Given the description of an element on the screen output the (x, y) to click on. 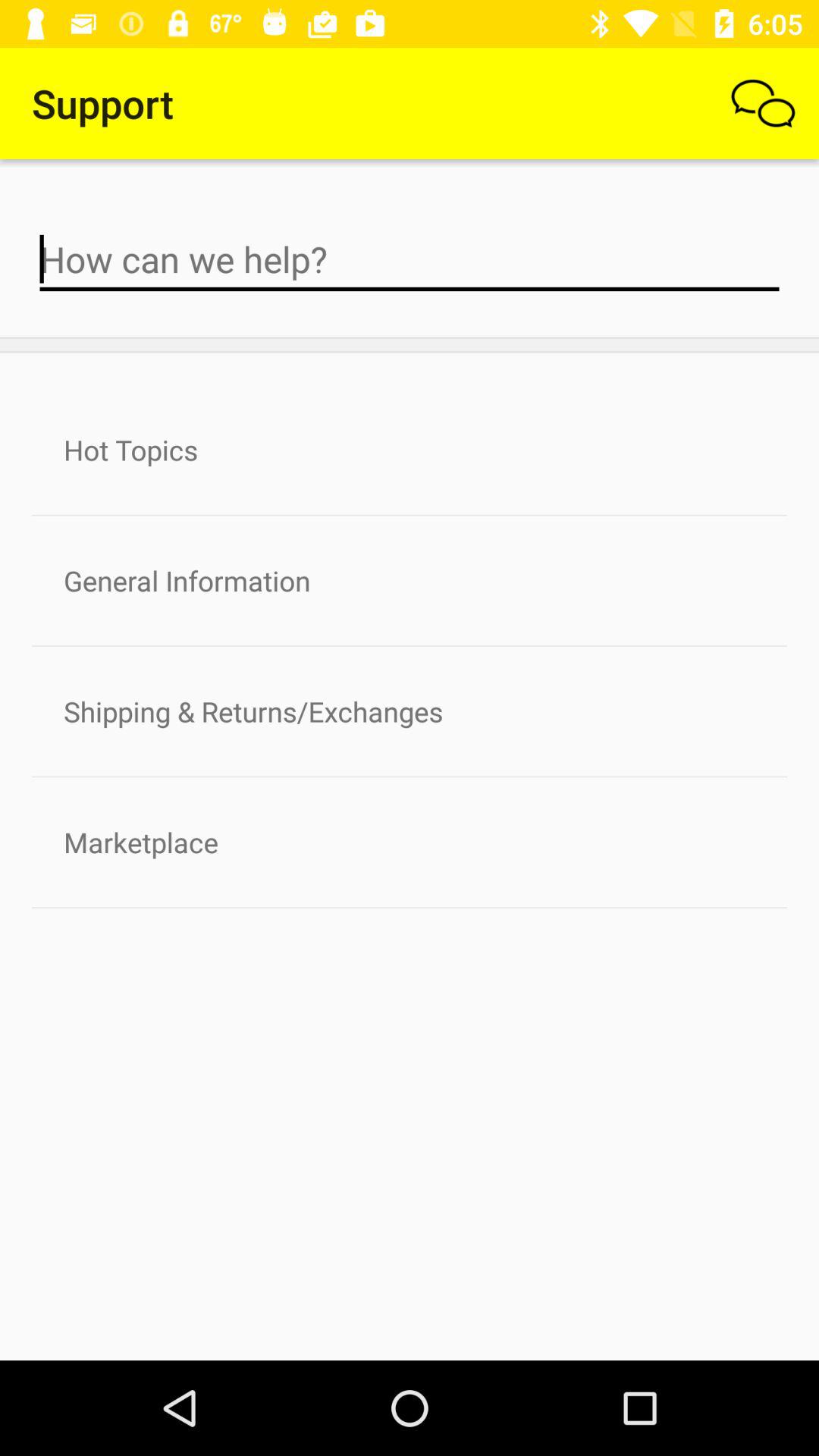
choose icon at the top right corner (763, 103)
